Given the description of an element on the screen output the (x, y) to click on. 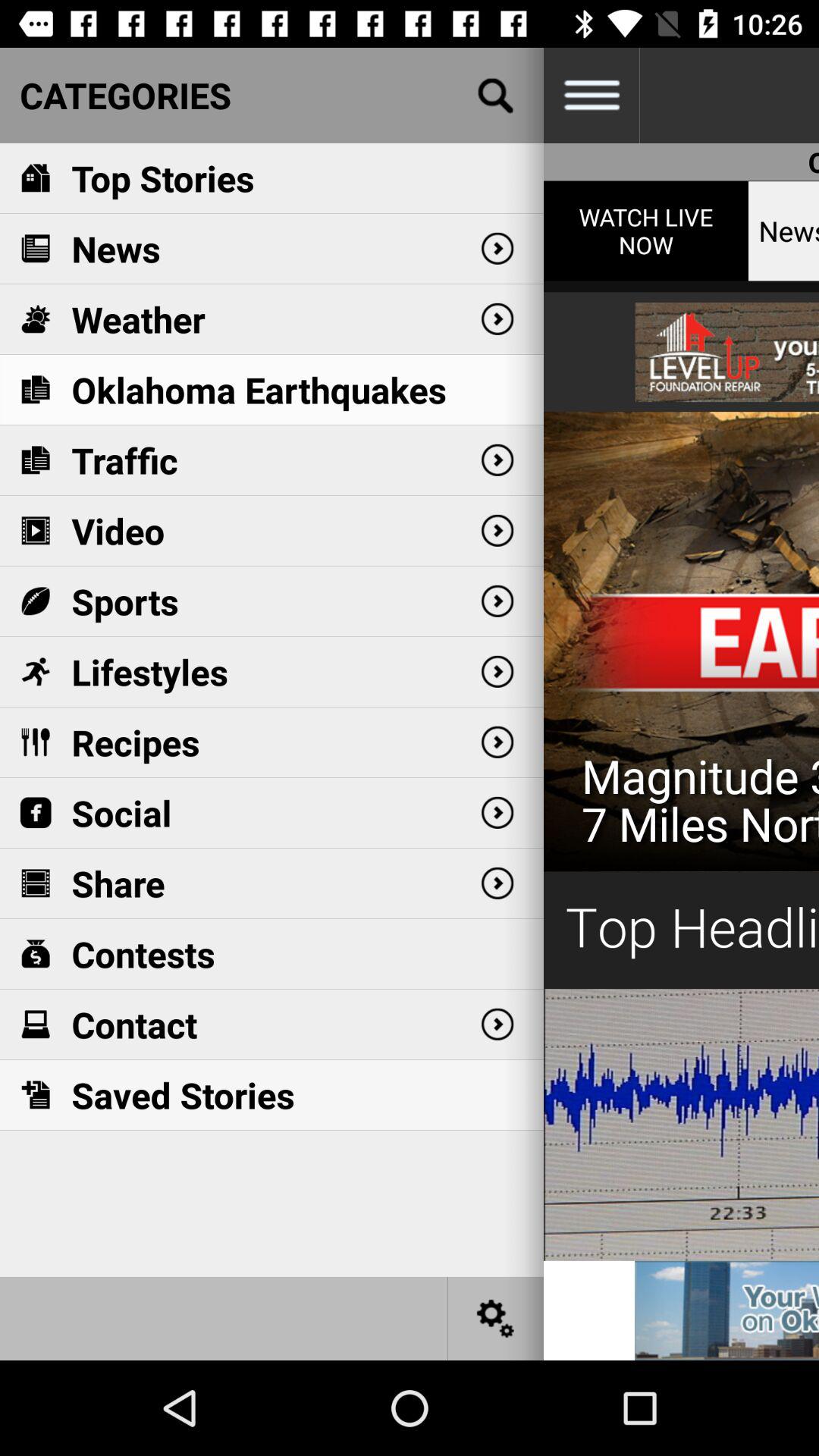
toggle settings (591, 95)
